Given the description of an element on the screen output the (x, y) to click on. 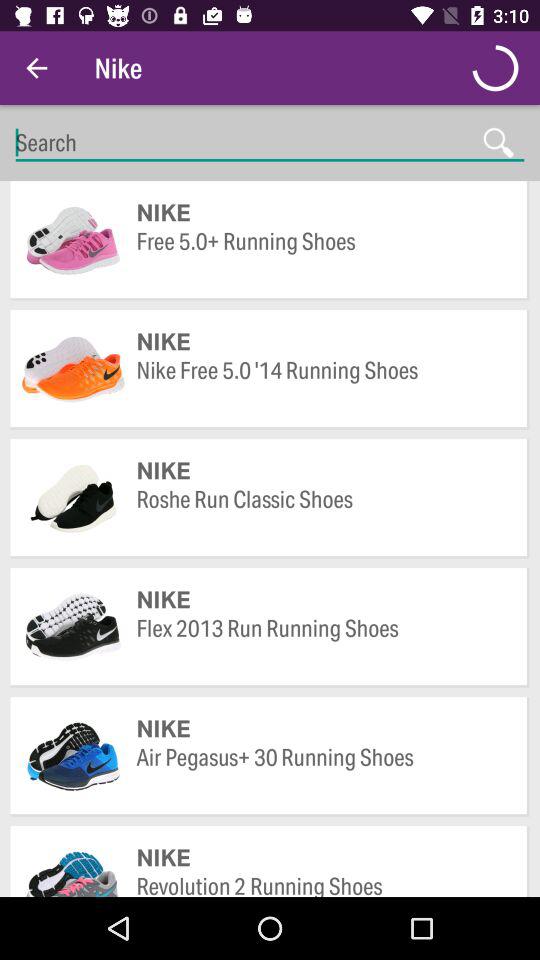
select the item next to nike item (36, 68)
